Given the description of an element on the screen output the (x, y) to click on. 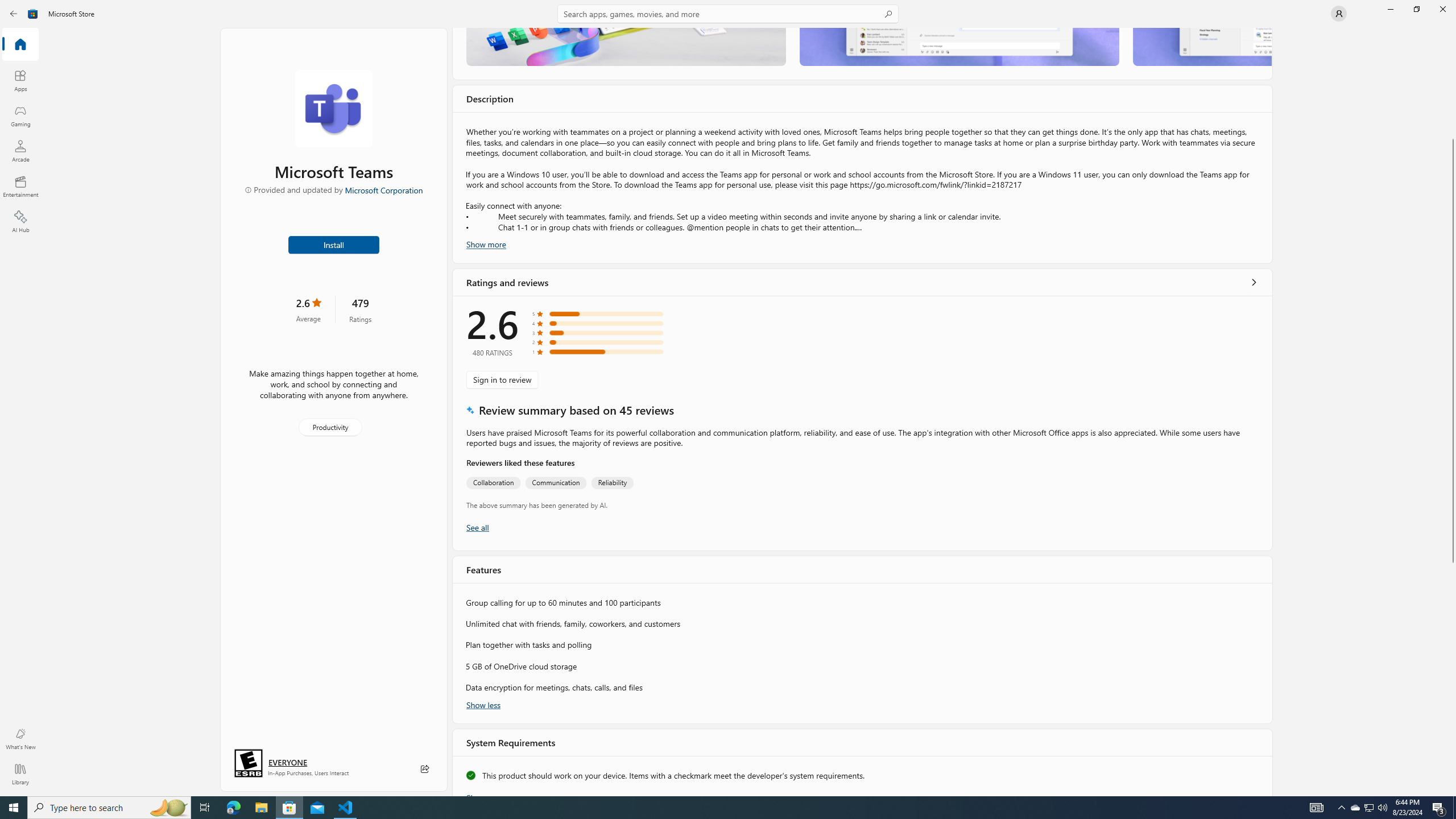
Library (20, 773)
Search (727, 13)
Entertainment (20, 185)
Show all ratings and reviews (1253, 281)
Sign in to review (501, 379)
Close Microsoft Store (1442, 9)
Arcade (20, 150)
Home (20, 45)
User profile (1338, 13)
Vertical Small Decrease (1452, 31)
Restore Microsoft Store (1416, 9)
Show less (482, 703)
Vertical Large Decrease (1452, 85)
AutomationID: NavigationControl (728, 398)
Class: Image (15, 13)
